Given the description of an element on the screen output the (x, y) to click on. 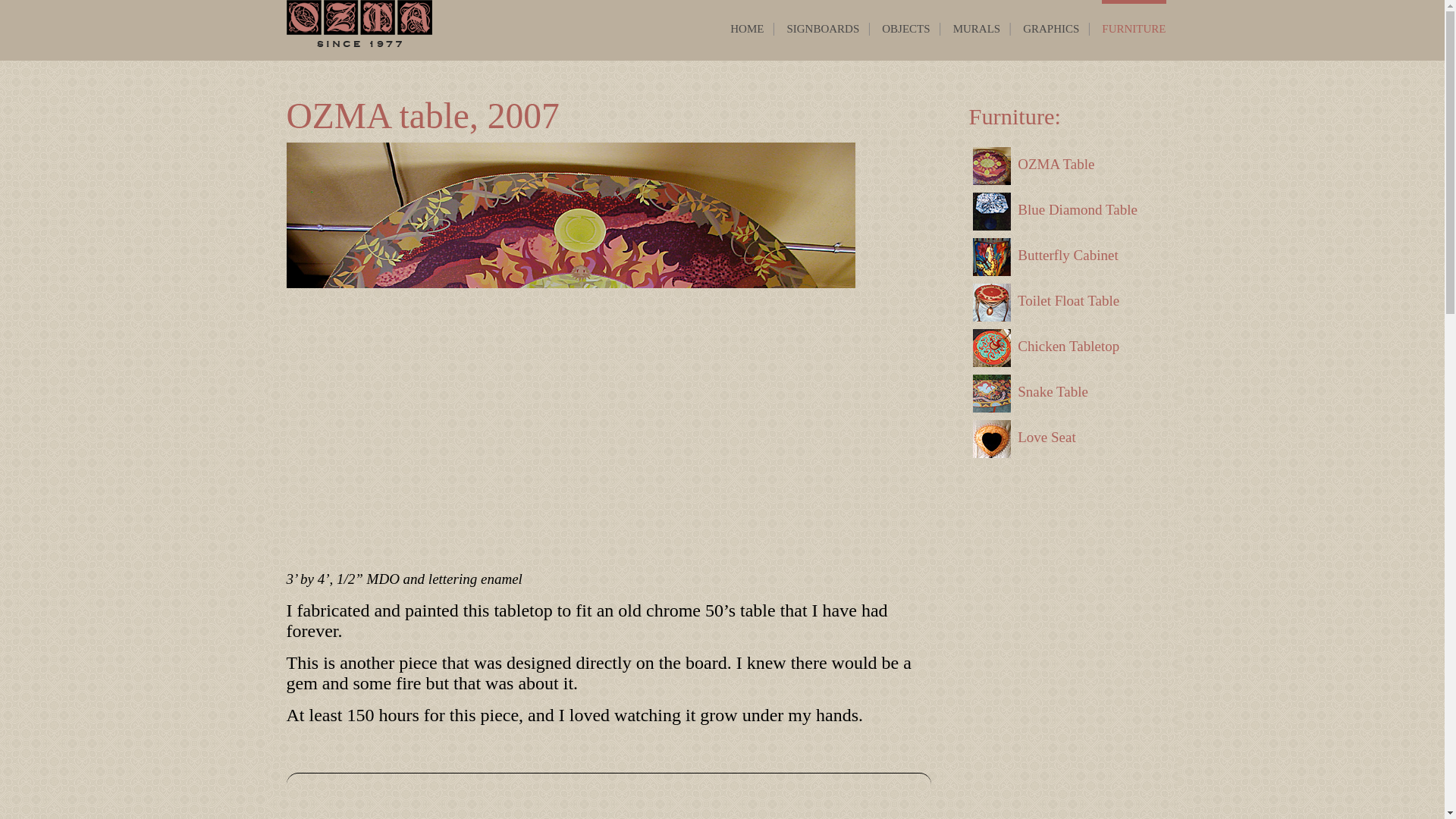
Blue Diamond Table (1063, 211)
GRAPHICS (1050, 28)
SIGNBOARDS (822, 28)
Chicken Tabletop (1063, 348)
OZMA Table (1063, 166)
OZMA table, 2007 (422, 115)
Toilet Float Table (1063, 302)
Butterfly Cabinet (1063, 257)
FURNITURE (1134, 28)
Snake Table (1063, 393)
